Given the description of an element on the screen output the (x, y) to click on. 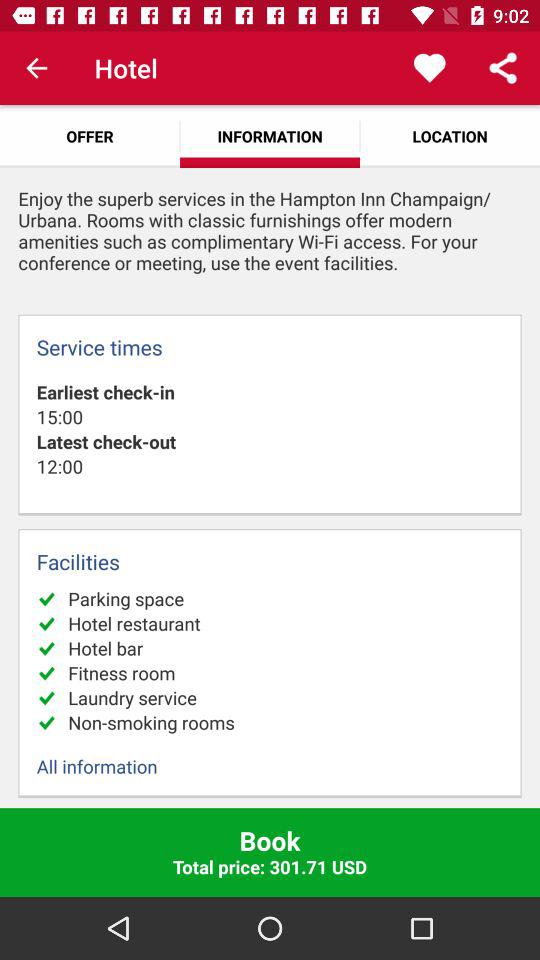
tap the app above location app (503, 67)
